Given the description of an element on the screen output the (x, y) to click on. 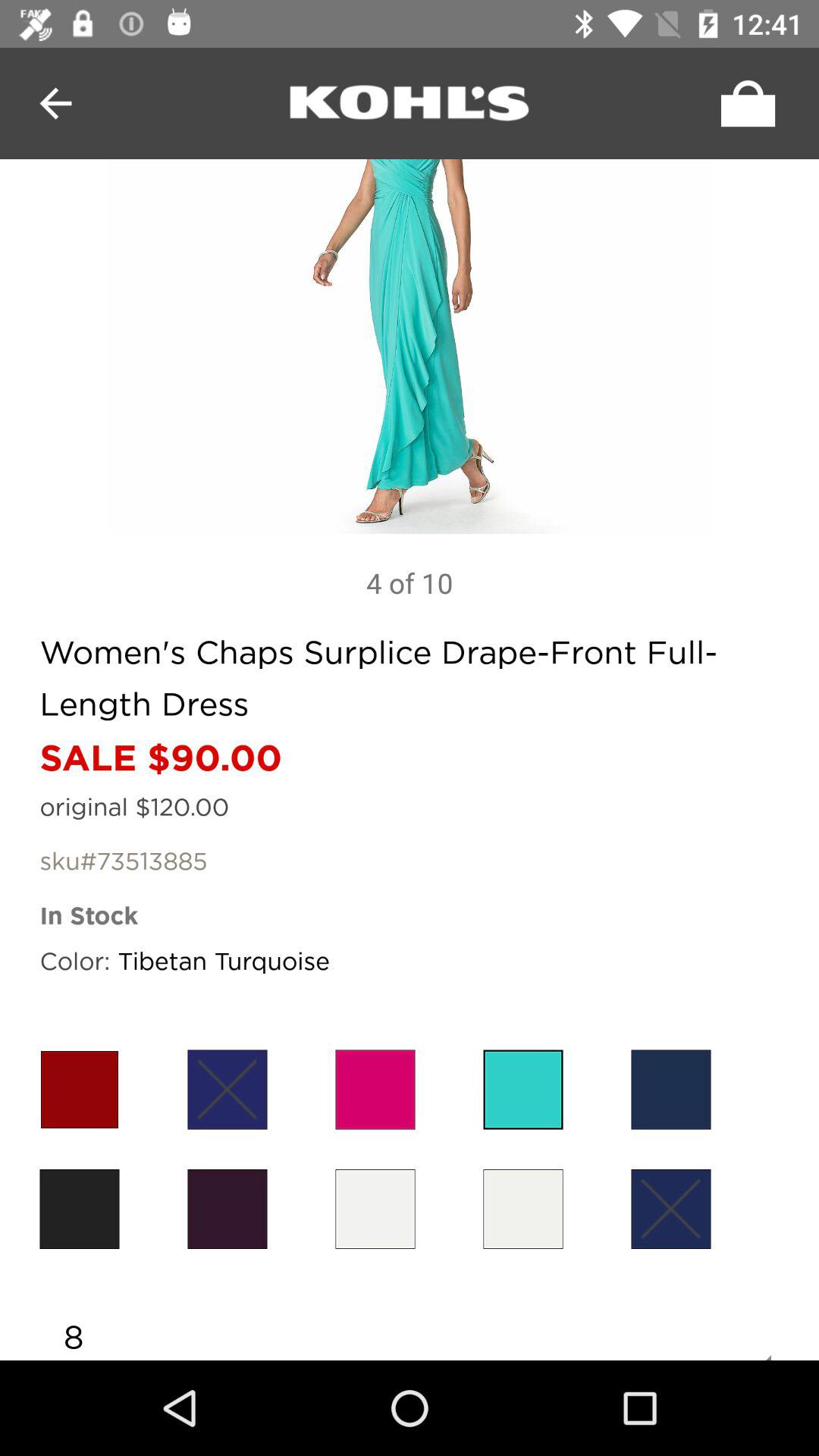
change color to grey (375, 1208)
